Given the description of an element on the screen output the (x, y) to click on. 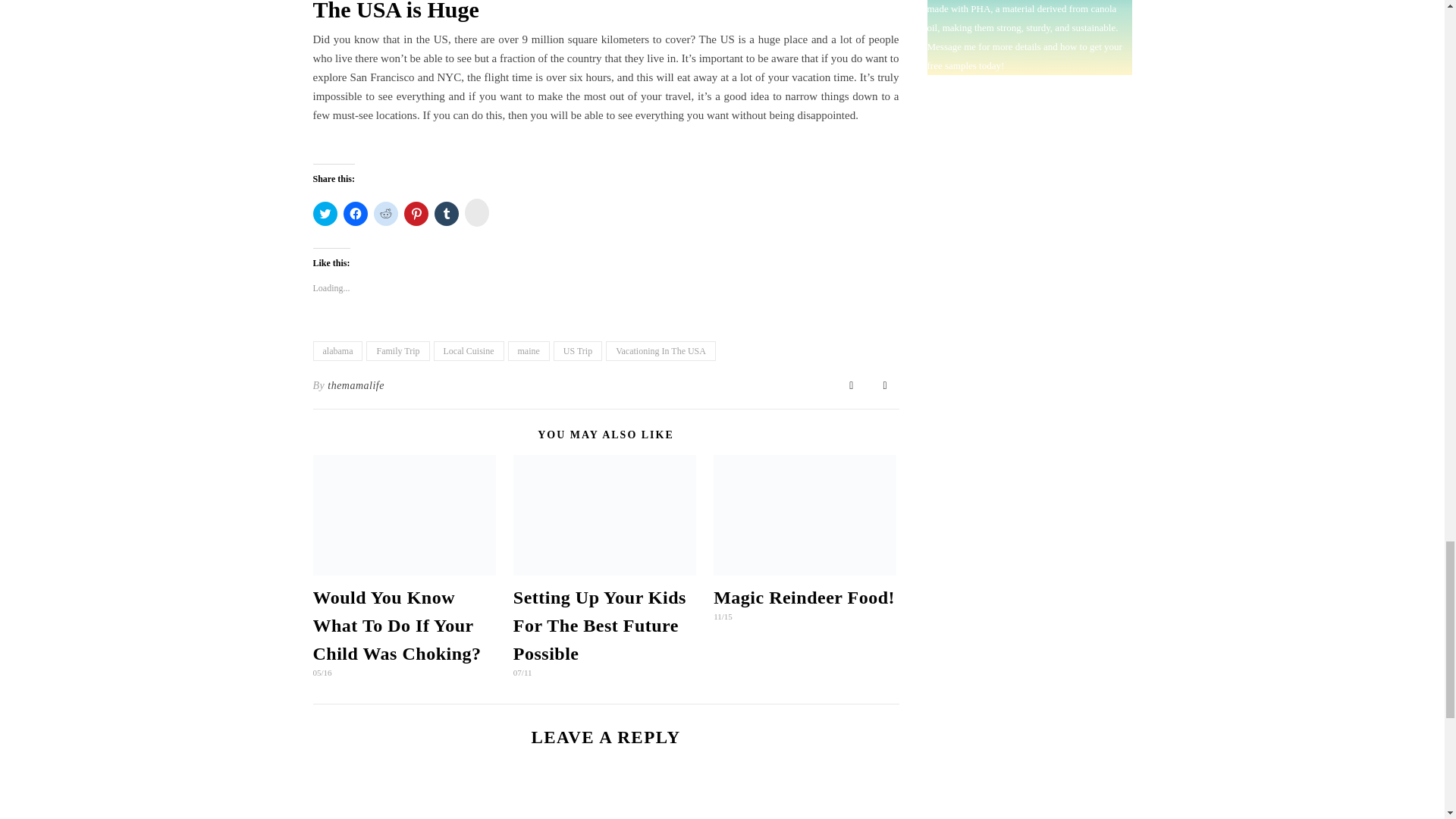
Click to share on Twitter (324, 213)
Click to share on Reddit (384, 213)
Click to share on Facebook (354, 213)
Click to share on Pinterest (415, 213)
Click to share on Tumblr (445, 213)
Comment Form (605, 803)
Posts by themamalife (355, 385)
